Given the description of an element on the screen output the (x, y) to click on. 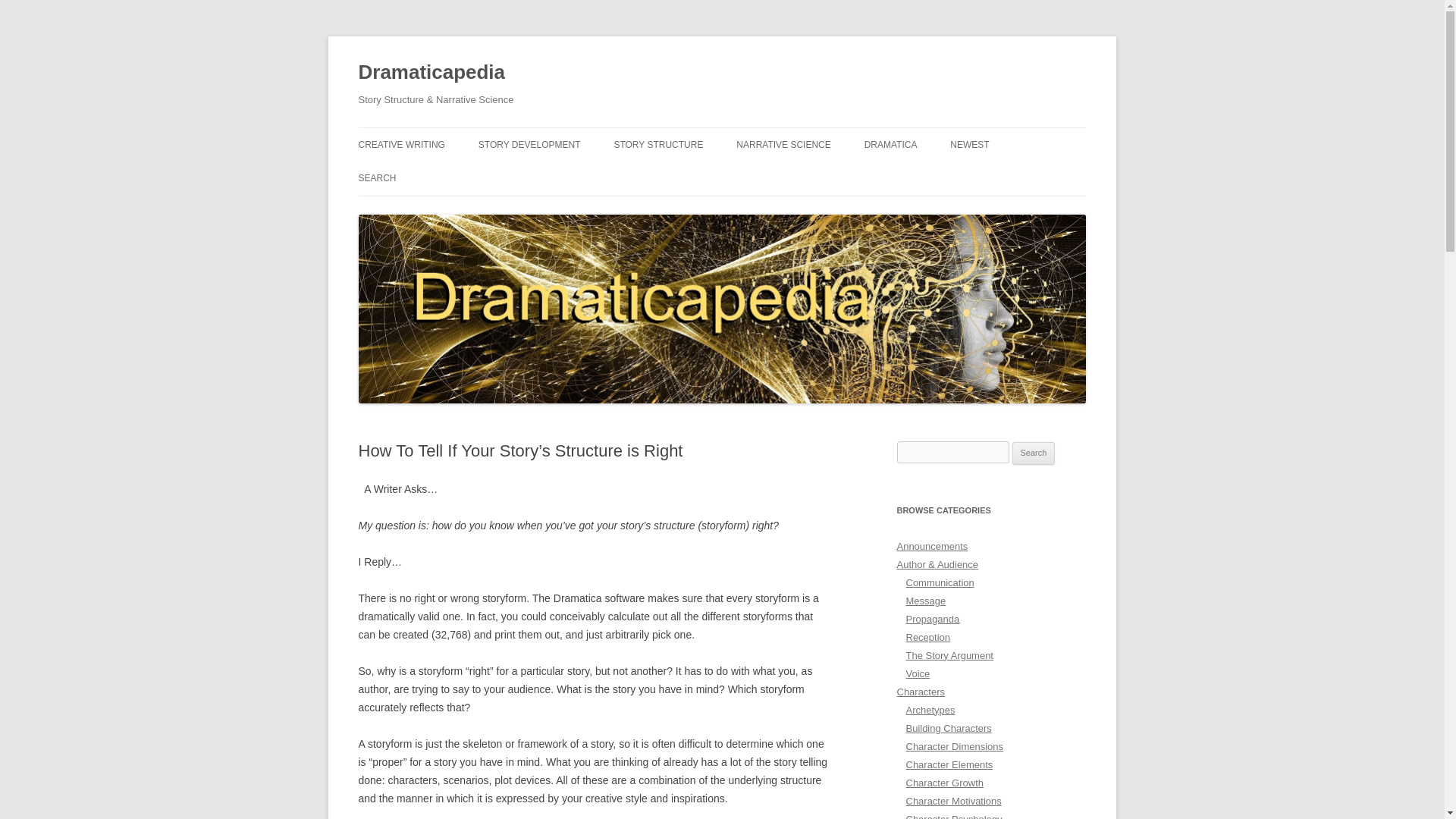
CREATIVE WRITING (401, 144)
Dramaticapedia (431, 72)
MOST POPULAR ARTICLES (940, 176)
Search (1033, 453)
MOST POPULAR ARTICLES (688, 176)
NARRATIVE SCIENCE (782, 144)
MOST POPULAR ARTICLES (554, 176)
SEARCH (377, 177)
STORY STRUCTURE (657, 144)
MOST POPULAR ARTICLES (433, 176)
MOST POPULAR ARTICLES (812, 176)
NEWEST (969, 144)
STORY DEVELOPMENT (529, 144)
